Given the description of an element on the screen output the (x, y) to click on. 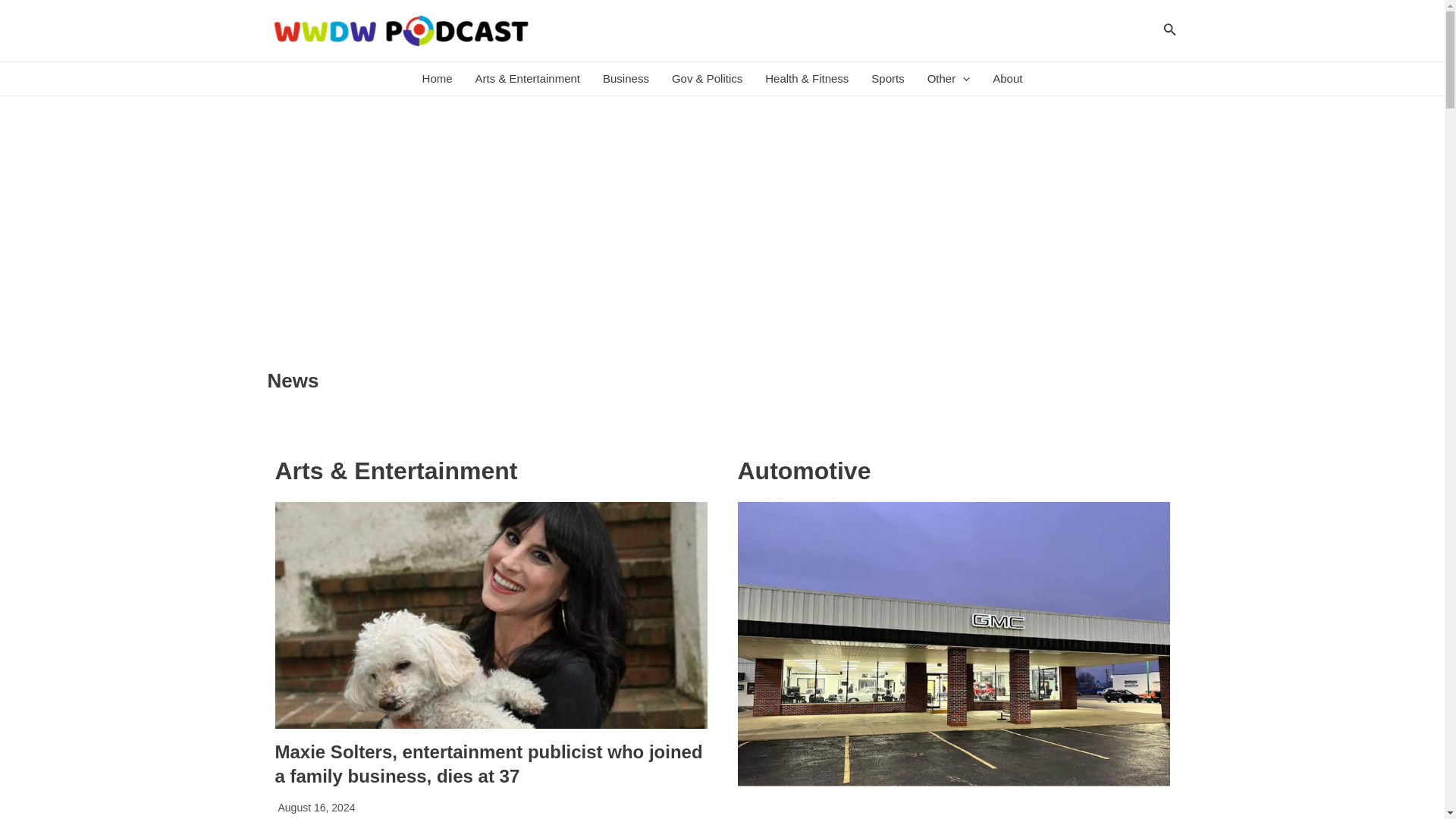
Business (626, 78)
Home (437, 78)
About (1007, 78)
Sports (887, 78)
Other (948, 78)
